Given the description of an element on the screen output the (x, y) to click on. 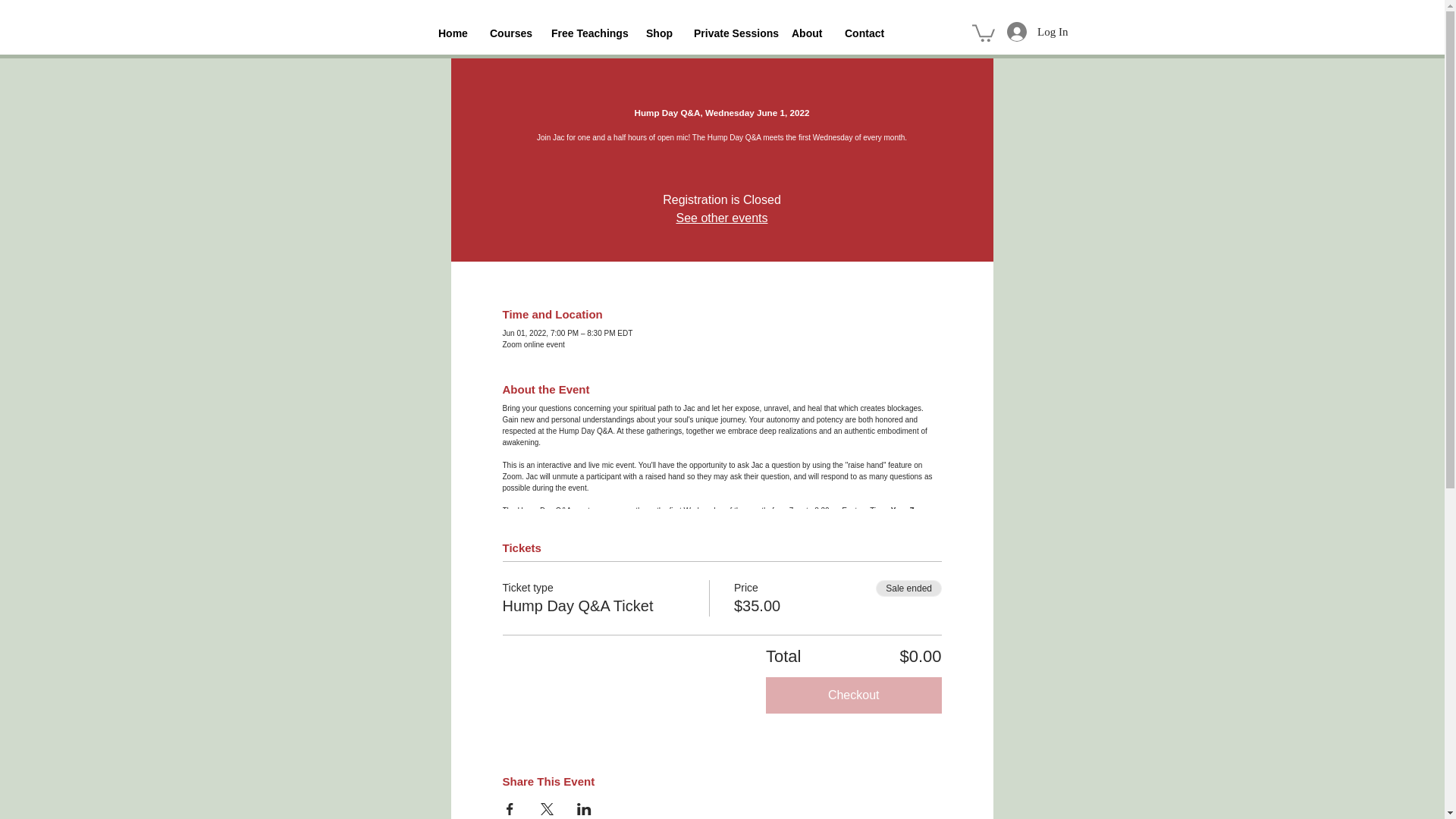
Free Teachings (587, 33)
About (806, 33)
Checkout (853, 695)
Private Sessions (731, 33)
Courses (509, 33)
Contact (862, 33)
Home (452, 33)
See other events (722, 217)
Log In (1036, 31)
Shop (658, 33)
